Given the description of an element on the screen output the (x, y) to click on. 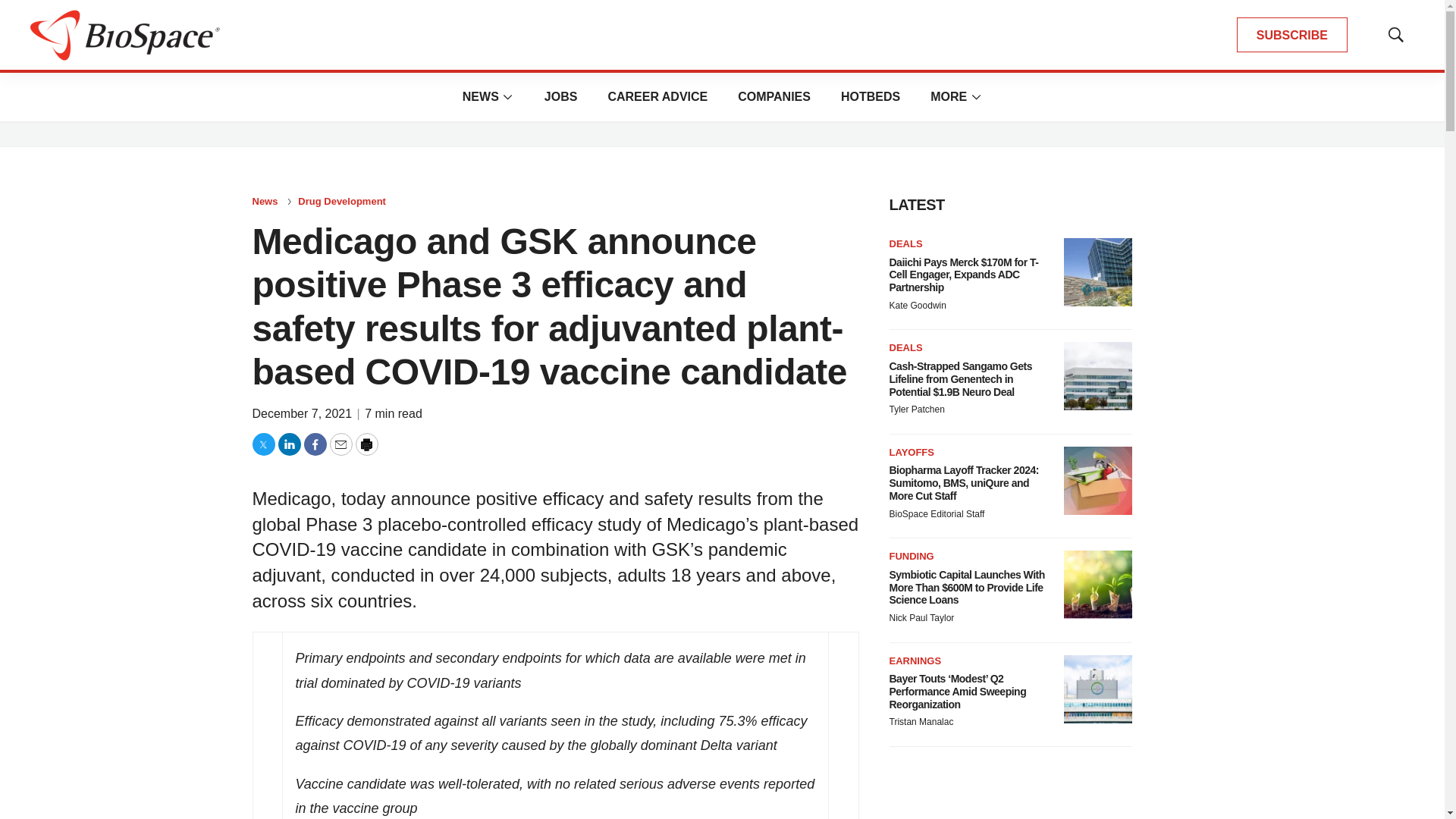
NEWS (481, 96)
Show Search (1395, 34)
SUBSCRIBE (1292, 34)
